Given the description of an element on the screen output the (x, y) to click on. 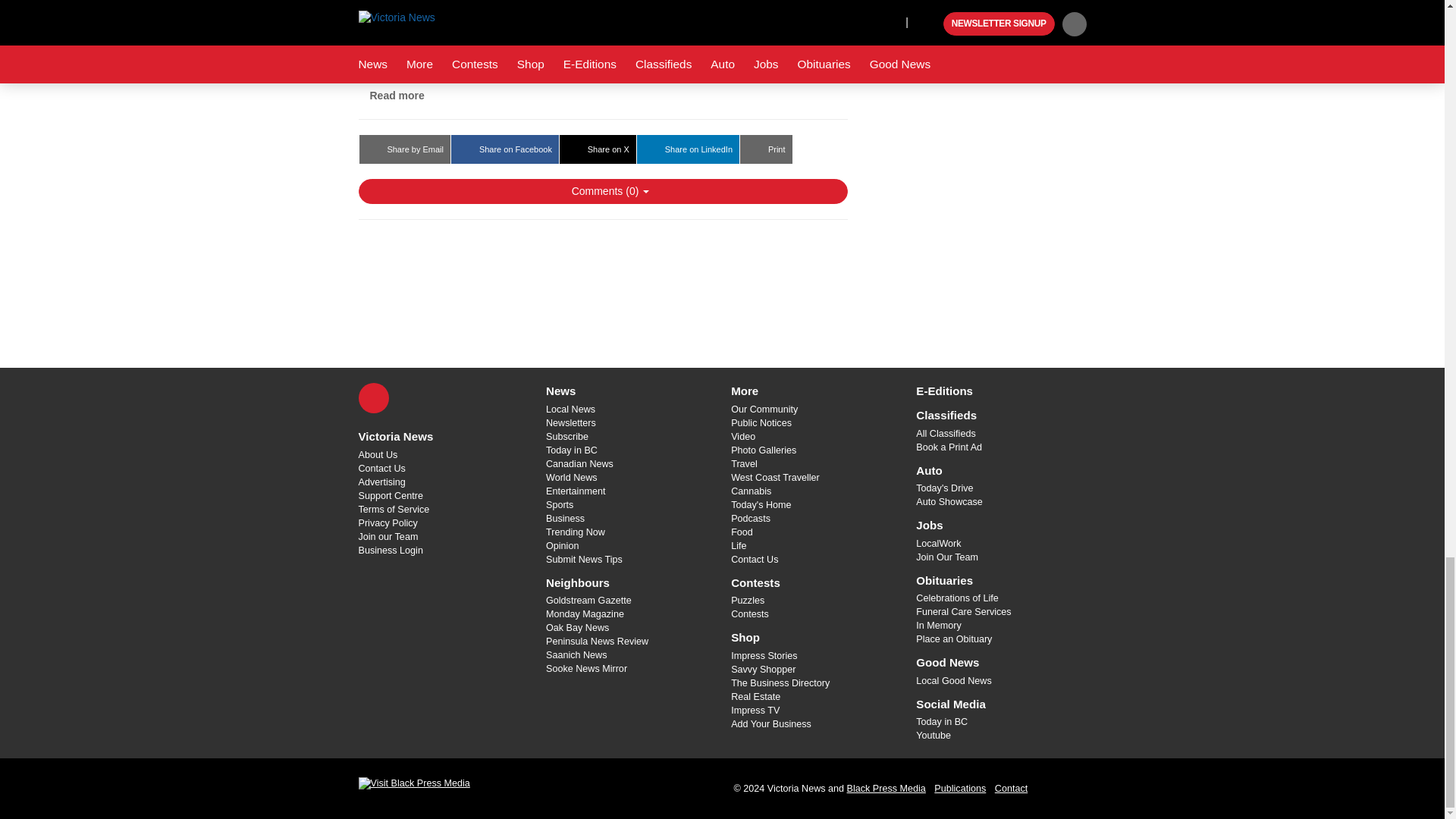
X (373, 398)
Show Comments (602, 190)
